Given the description of an element on the screen output the (x, y) to click on. 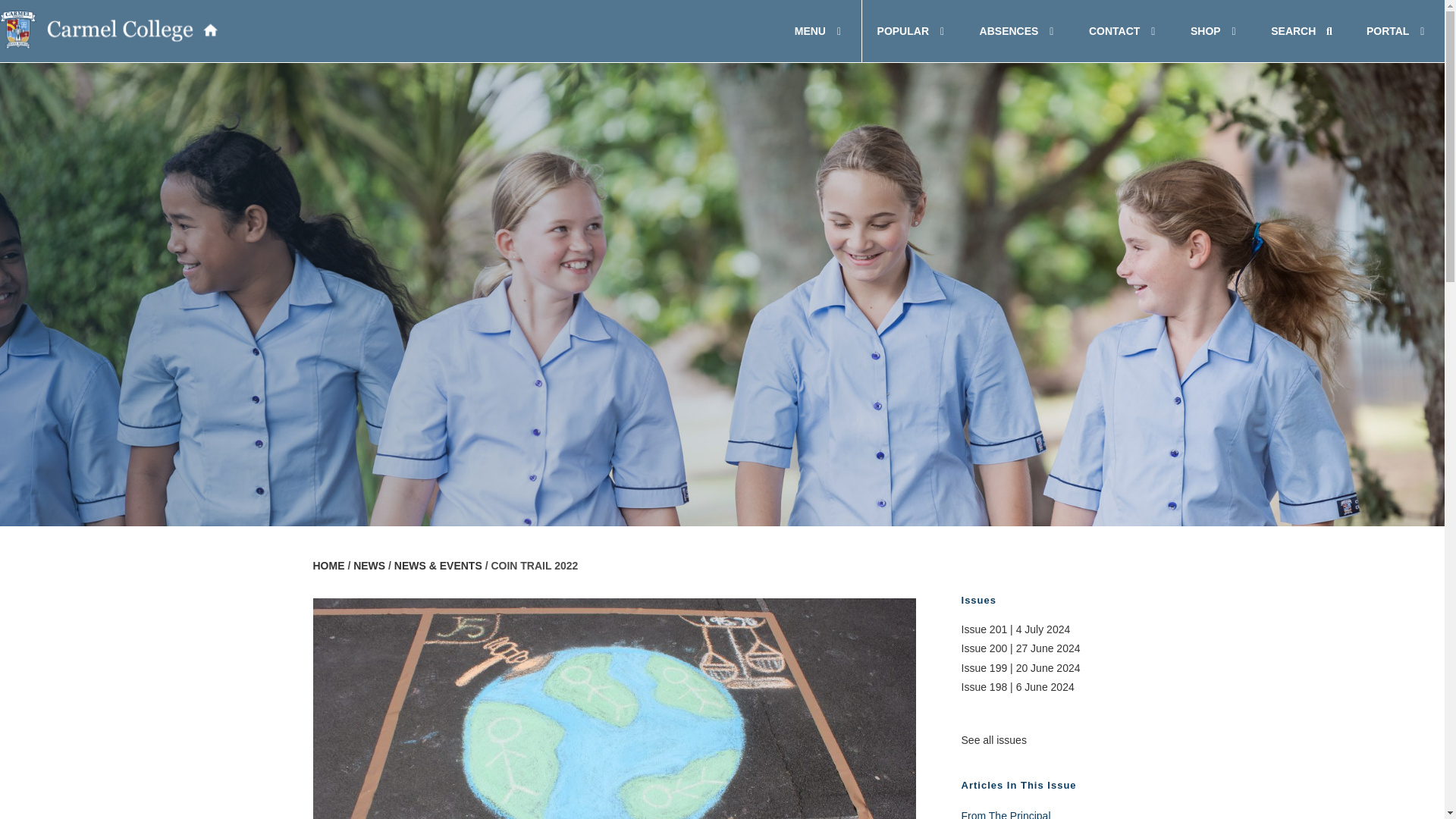
MENU (819, 31)
Carmel-Header-Logo-home-2 (722, 31)
